Given the description of an element on the screen output the (x, y) to click on. 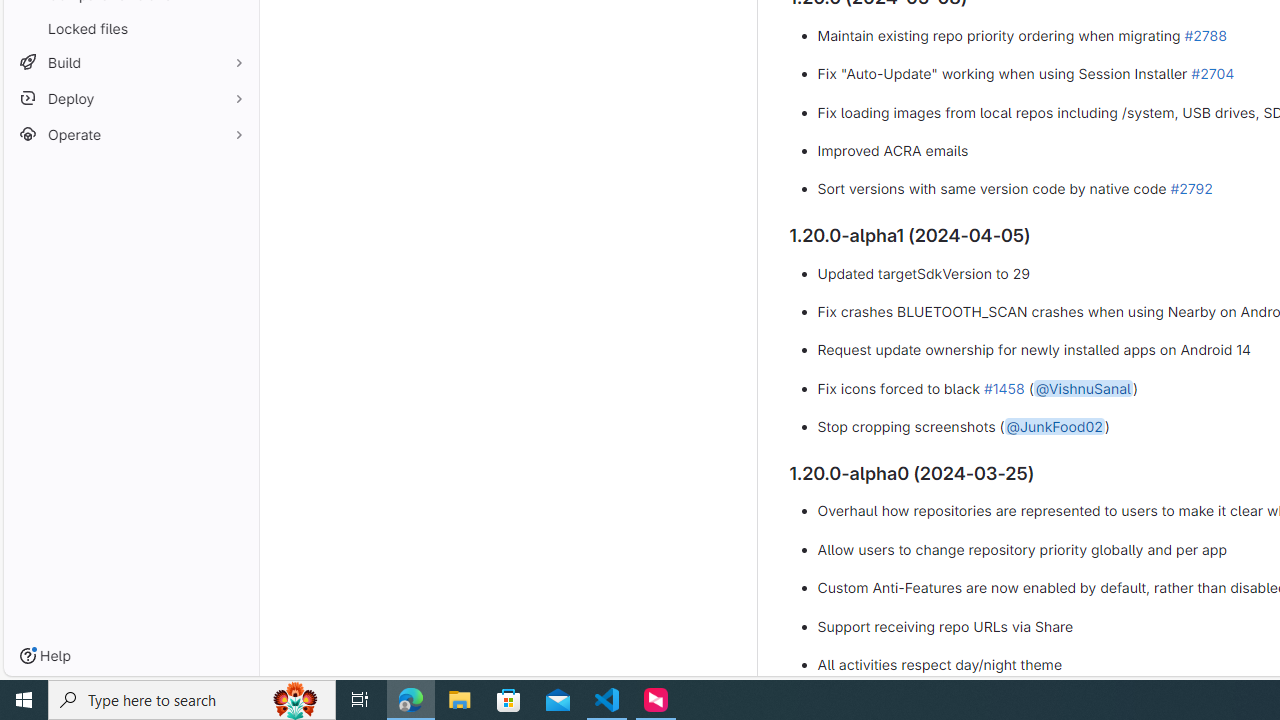
Deploy (130, 98)
